Given the description of an element on the screen output the (x, y) to click on. 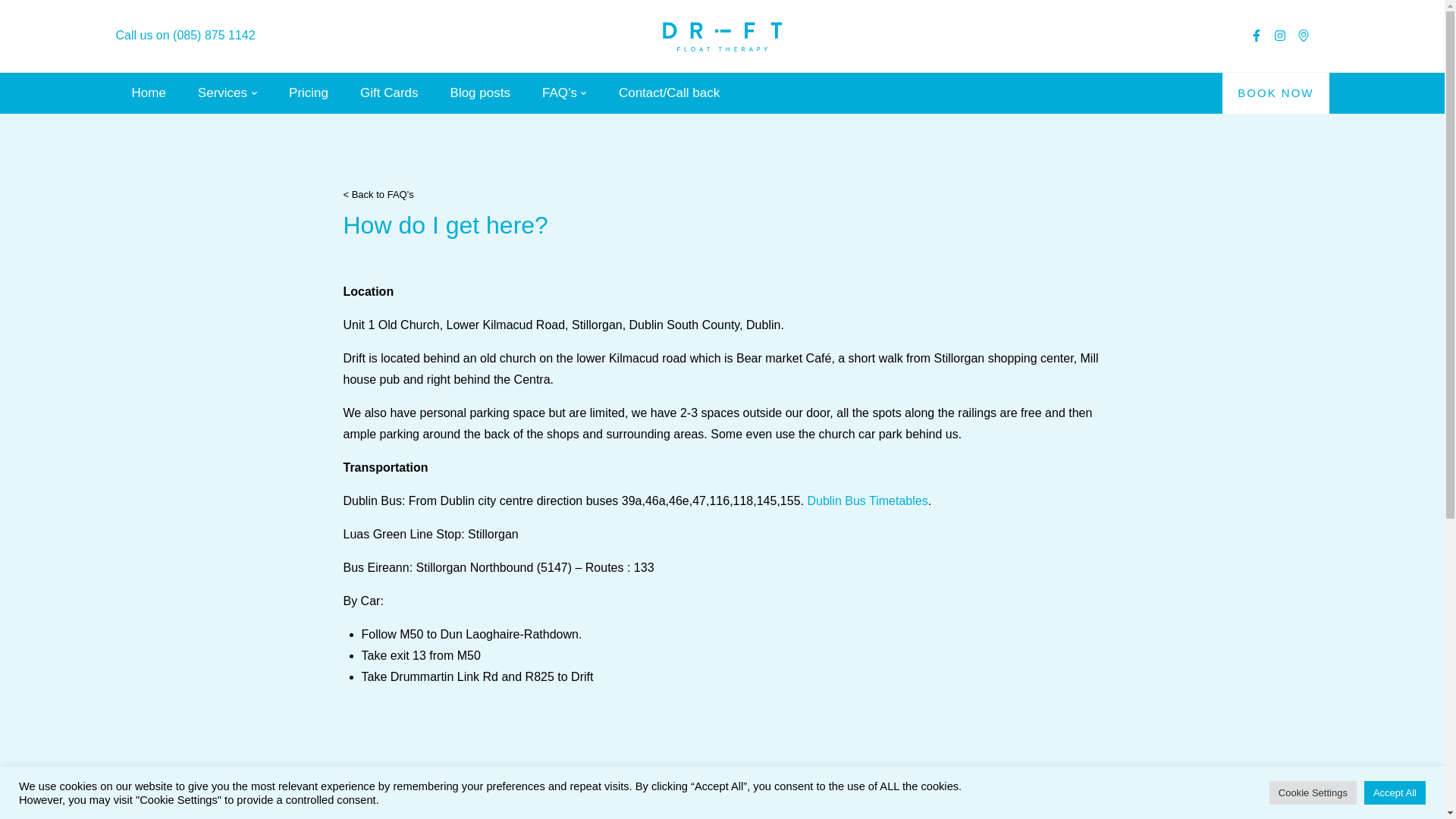
BOOK NOW (1275, 92)
Gift Cards (389, 93)
Services (222, 93)
Blog posts (480, 93)
Pricing (308, 93)
Home (148, 93)
